Given the description of an element on the screen output the (x, y) to click on. 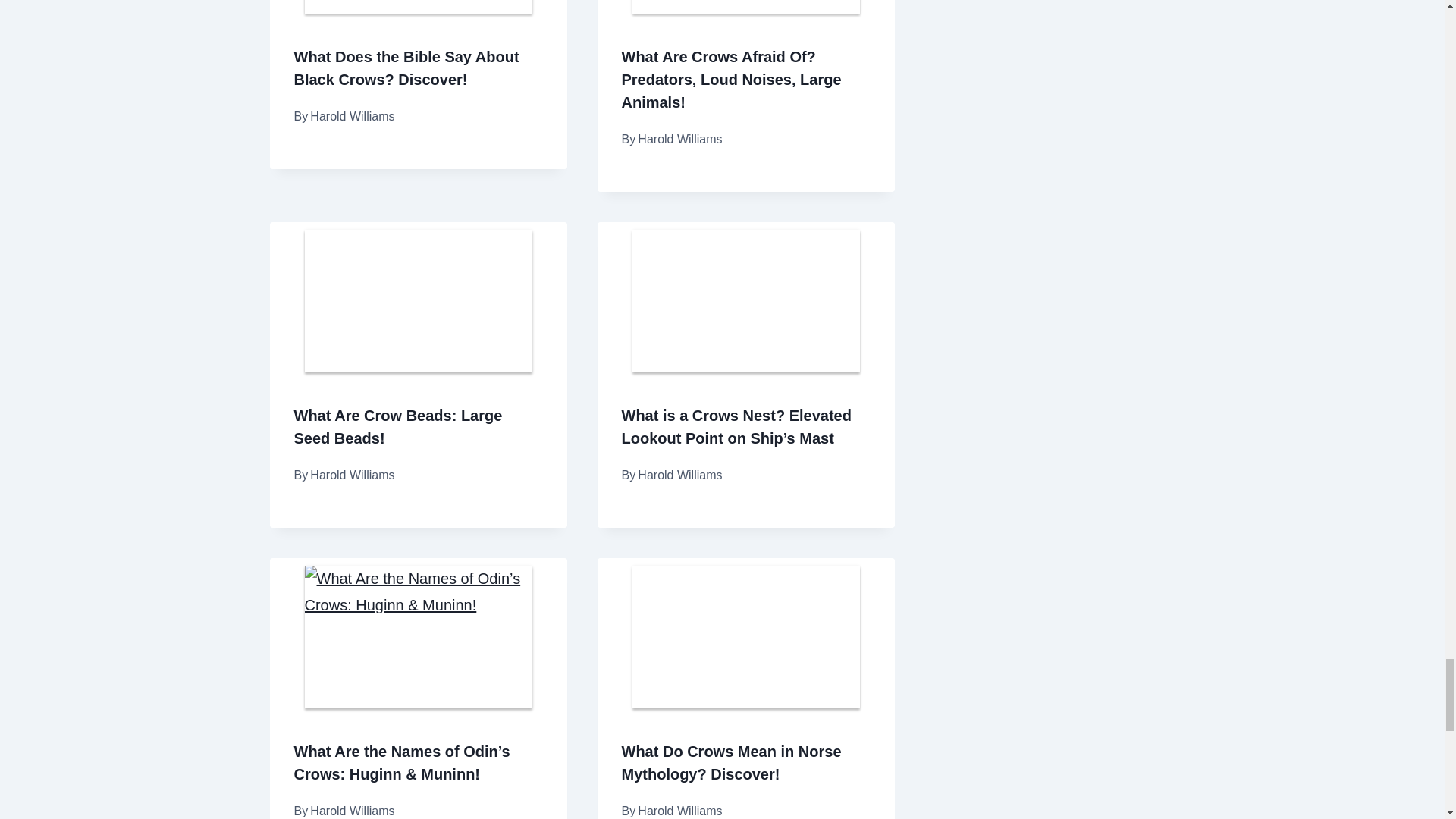
What Does the Bible Say About Black Crows? Discover! (406, 67)
What Are Crow Beads: Large Seed Beads! (398, 426)
